Given the description of an element on the screen output the (x, y) to click on. 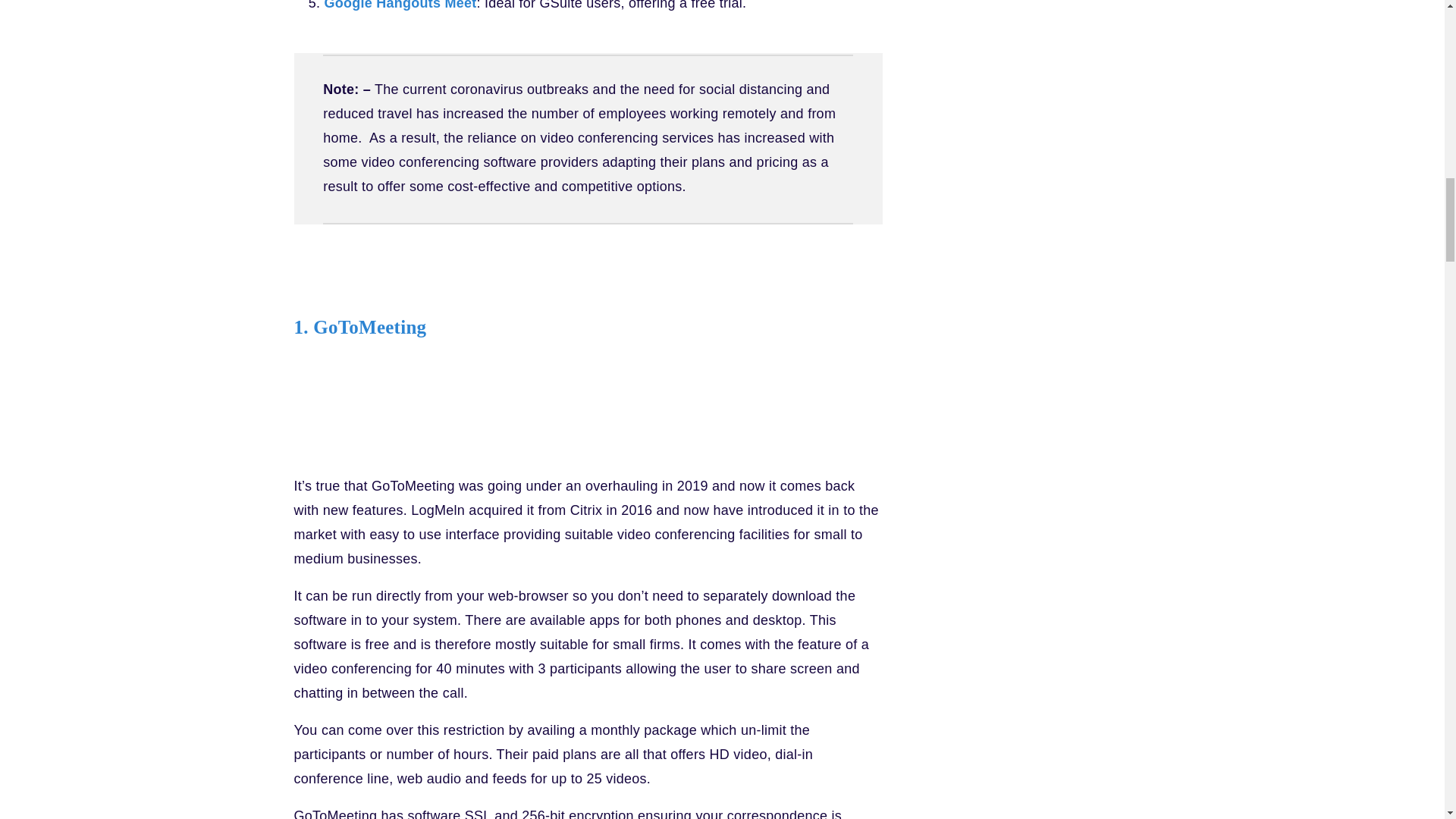
Google Hangouts Meet (400, 5)
1. GoToMeeting (360, 326)
